Given the description of an element on the screen output the (x, y) to click on. 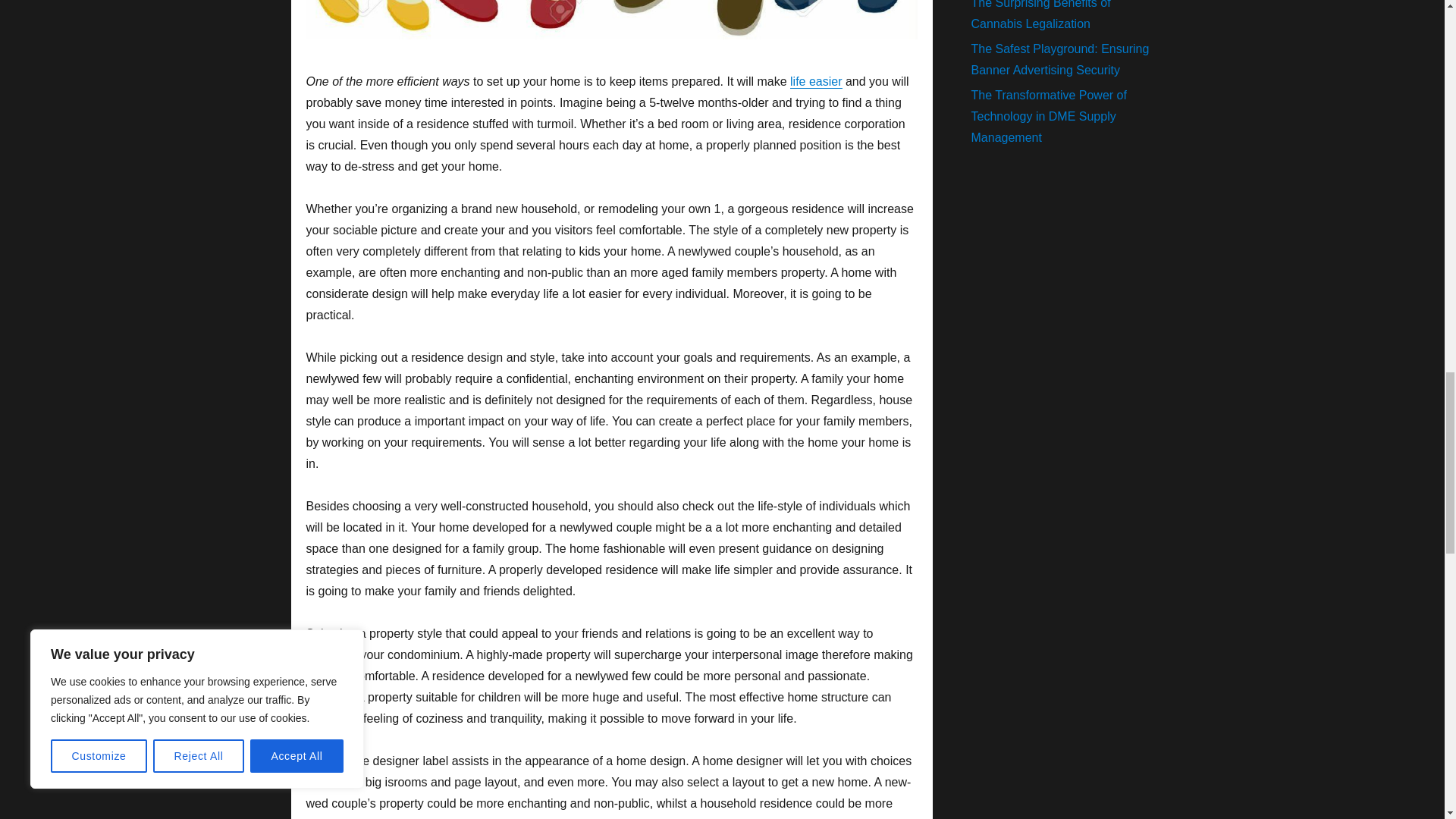
life easier (815, 81)
